Given the description of an element on the screen output the (x, y) to click on. 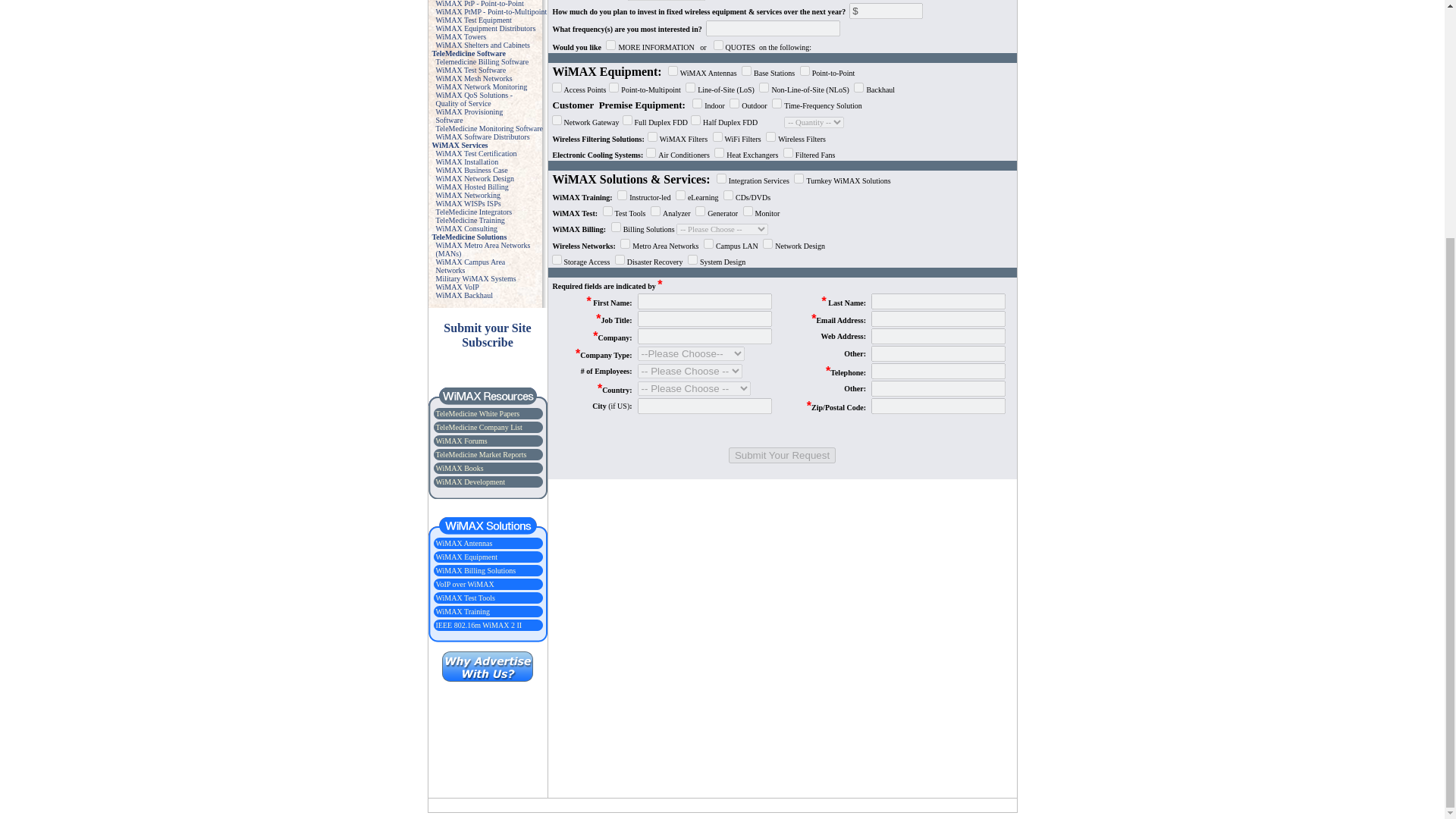
WiMAX Test Equipment (473, 19)
WiMAX Test Software (470, 70)
TeleMedicine Software (468, 53)
Please Send More Information on (610, 44)
WiMAX PtMP - Point-to-Multipoint (491, 11)
WiMAX Antennas                                    mwe pxm (468, 115)
WiMAX PtP - Point-to-Point (473, 98)
TeleMedicine Monitoring Software (673, 71)
WiMAX Towers (478, 3)
WiMAX Software Distributors (488, 128)
